Given the description of an element on the screen output the (x, y) to click on. 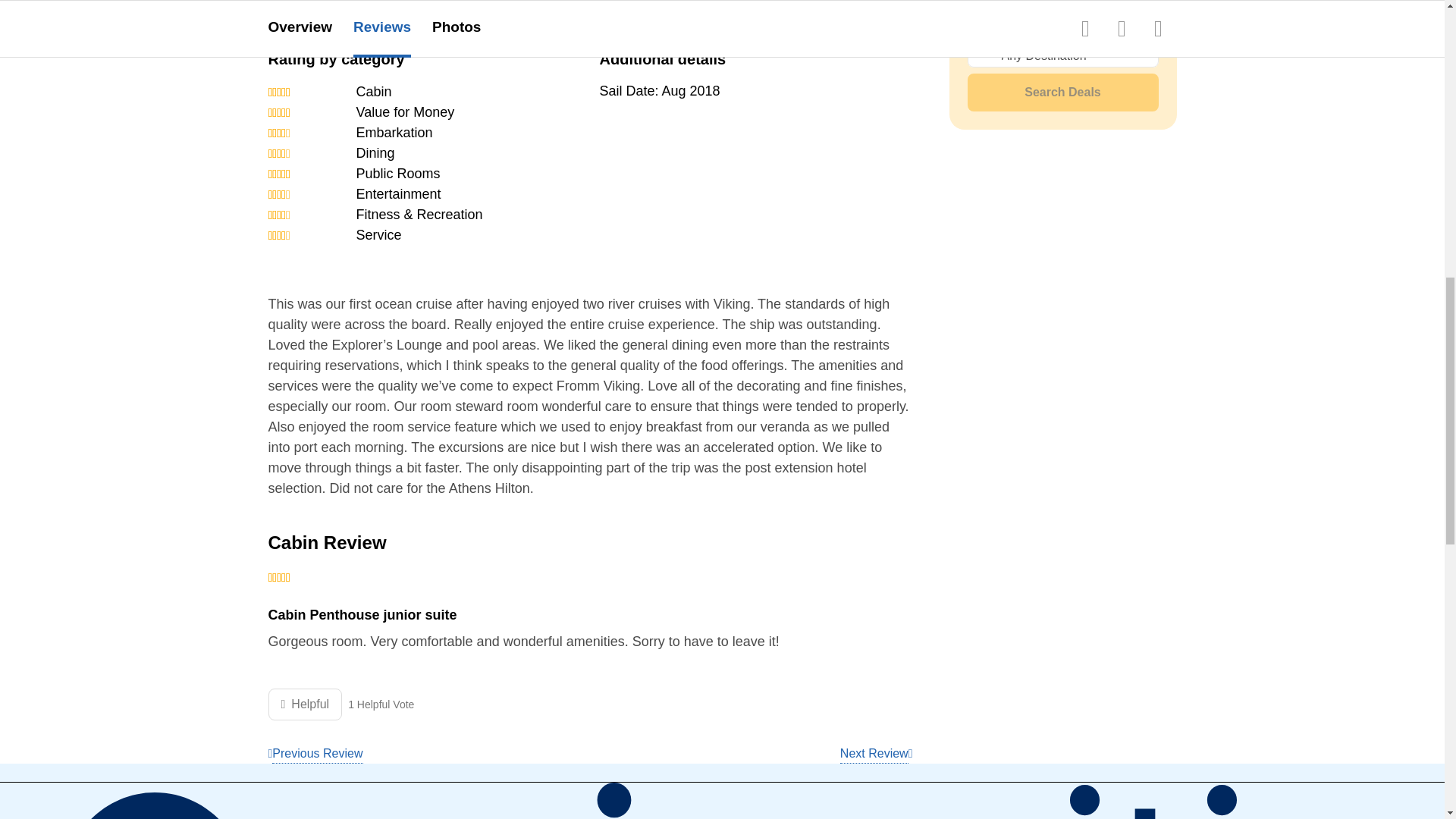
Previous Review (314, 753)
Next Review (876, 753)
Helpful (304, 703)
Search Deals (1063, 92)
